Given the description of an element on the screen output the (x, y) to click on. 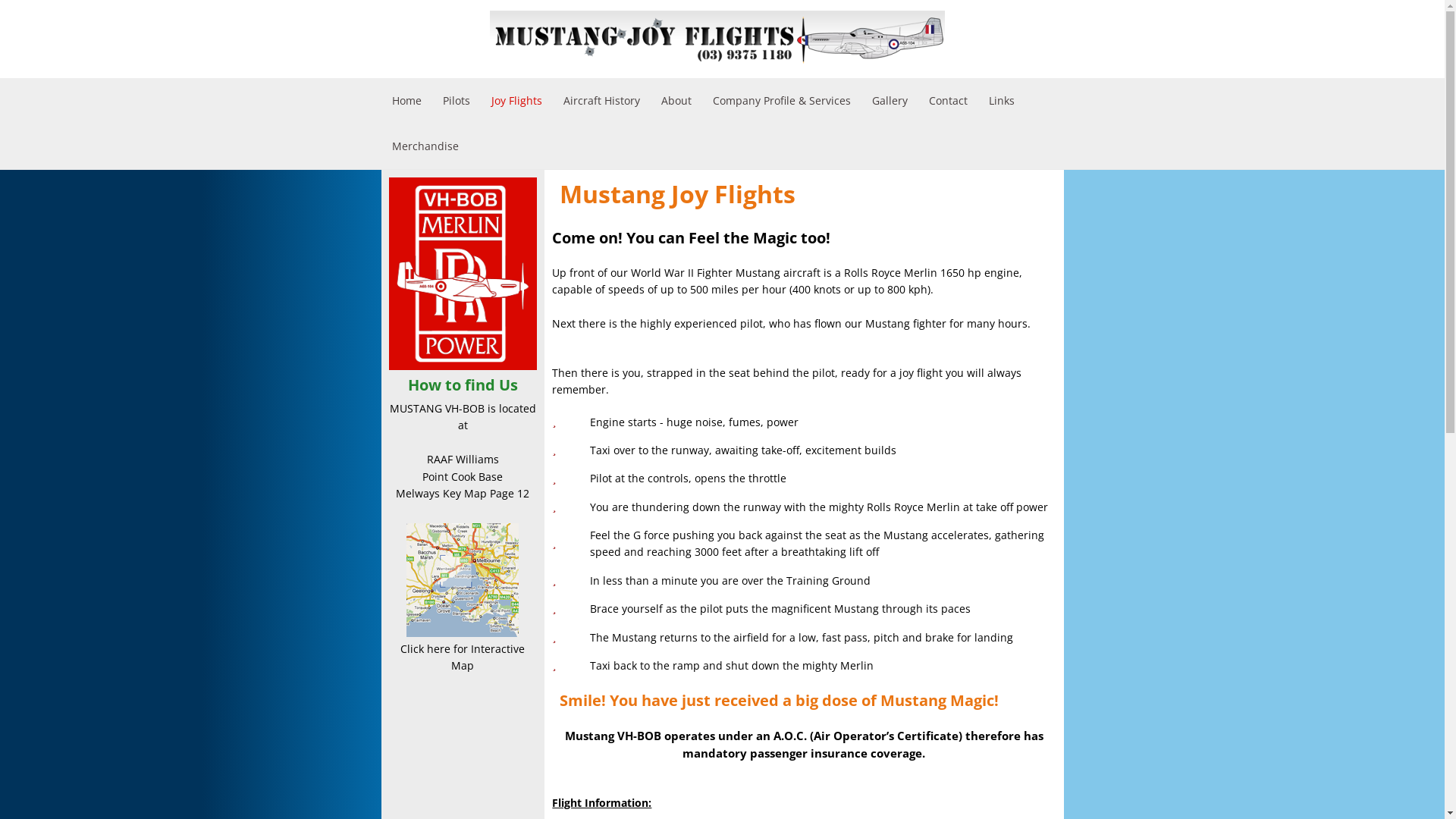
Merchandise Element type: text (424, 146)
Gallery Element type: text (889, 100)
Pilots Element type: text (456, 100)
Links Element type: text (1001, 100)
Home Element type: text (405, 100)
About Element type: text (676, 100)
Contact Element type: text (947, 100)
Aircraft History Element type: text (600, 100)
Company Profile & Services Element type: text (781, 100)
Joy Flights Element type: text (516, 100)
